Given the description of an element on the screen output the (x, y) to click on. 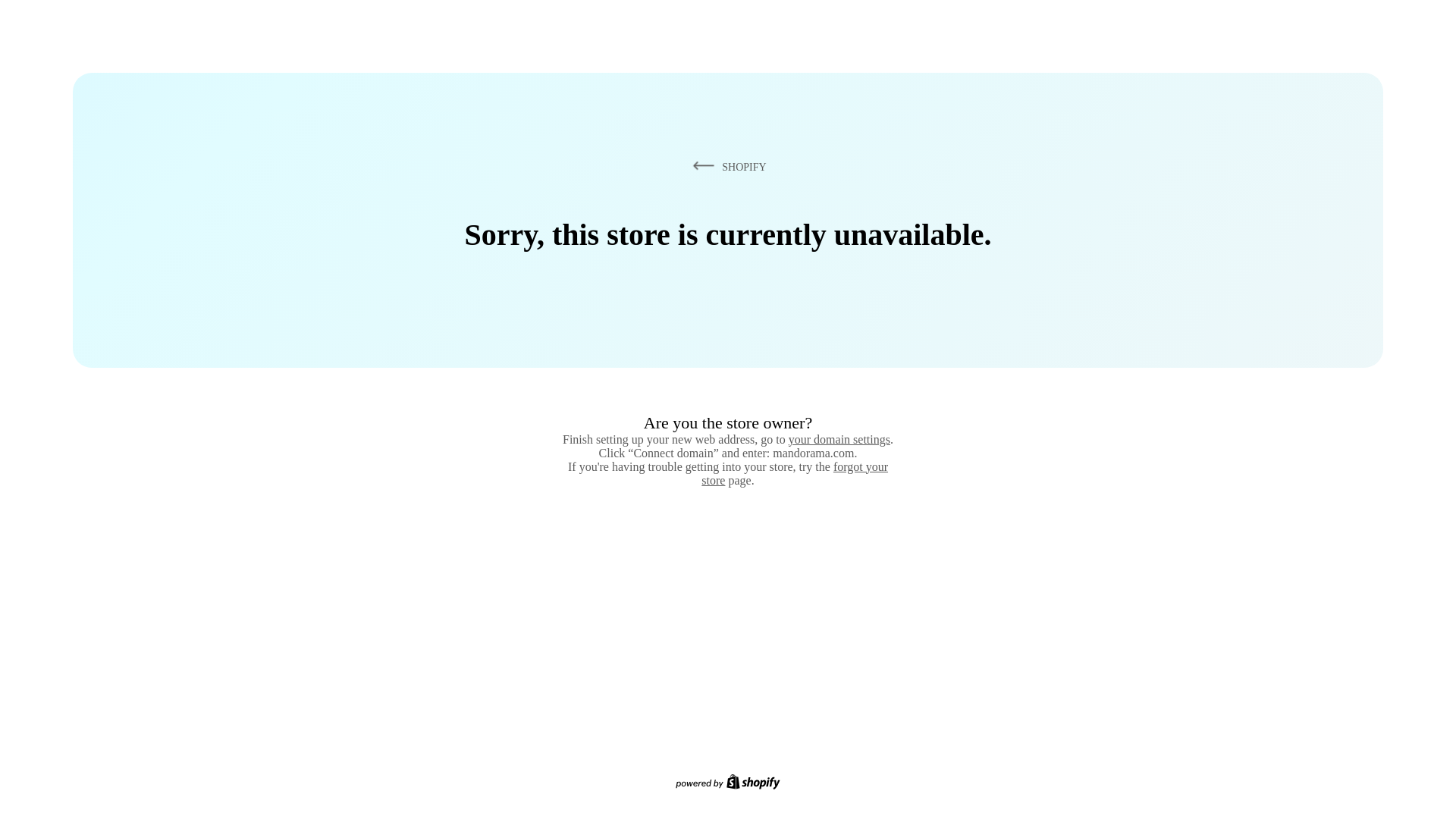
forgot your store (794, 473)
SHOPIFY (726, 166)
your domain settings (839, 439)
